Given the description of an element on the screen output the (x, y) to click on. 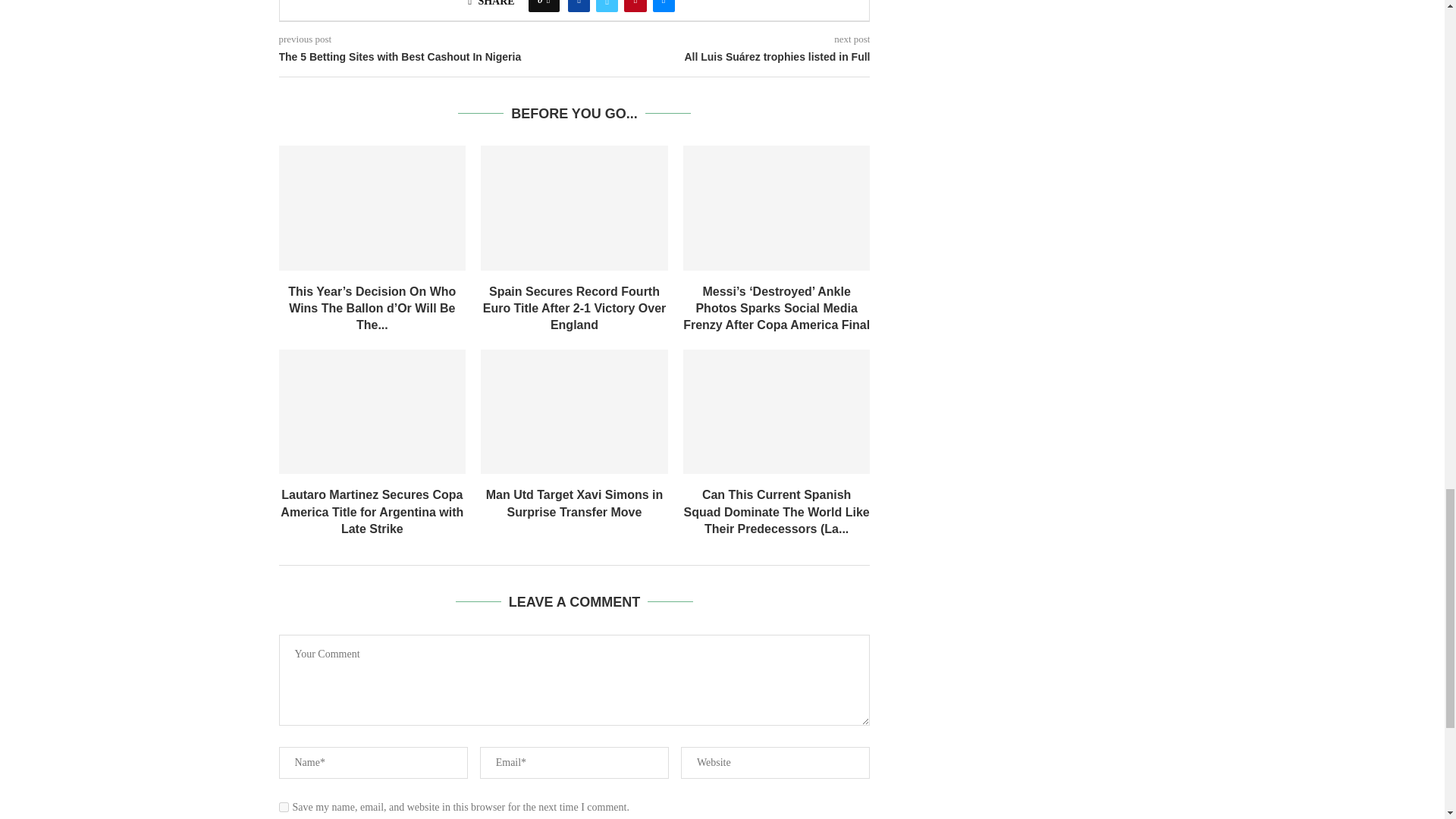
Man Utd Target Xavi Simons in Surprise Transfer Move (574, 411)
yes (283, 807)
